Given the description of an element on the screen output the (x, y) to click on. 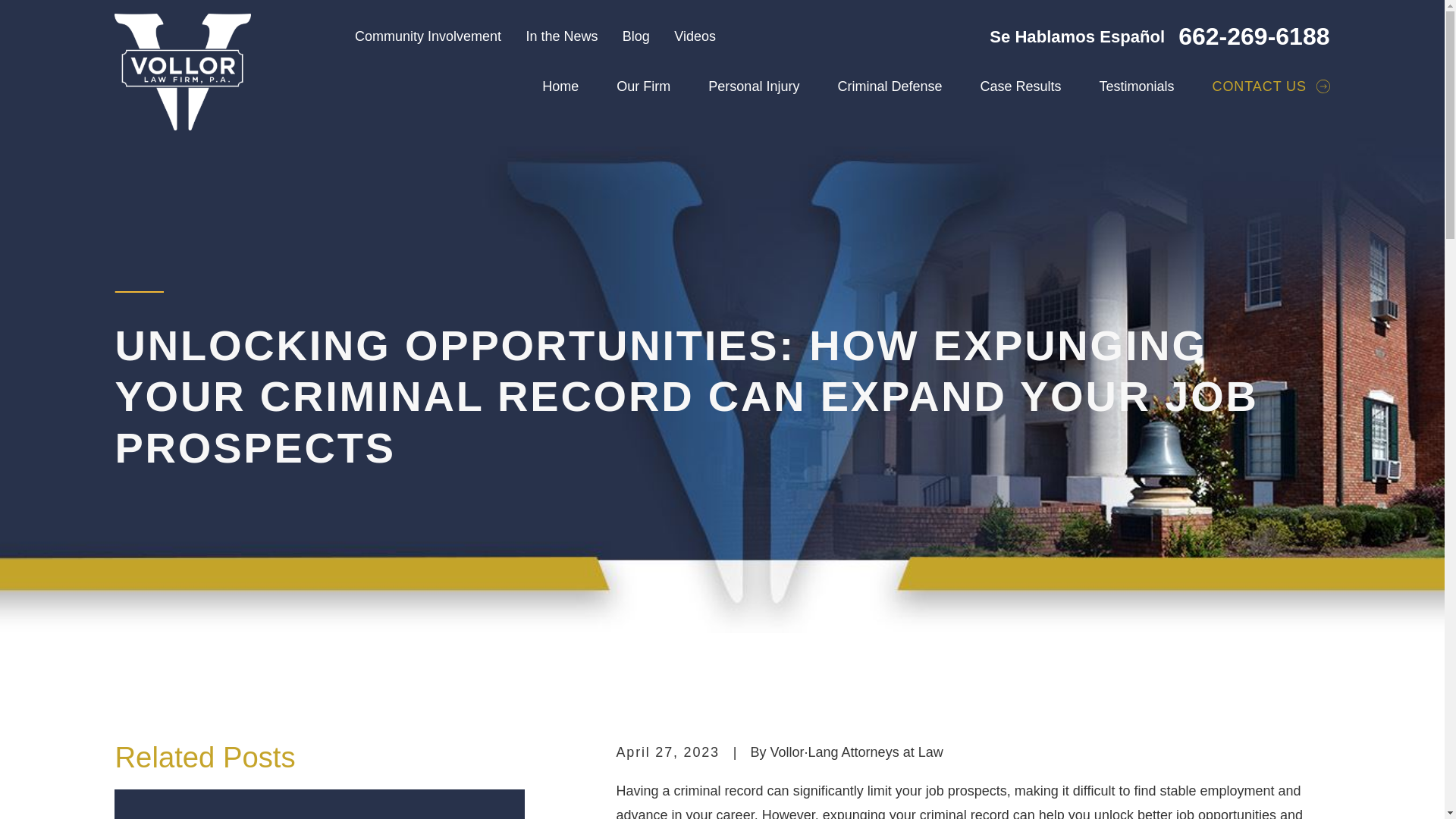
Community Involvement (427, 36)
Videos (695, 36)
Home (182, 65)
Home (559, 86)
In the News (560, 36)
Blog (636, 36)
Our Firm (642, 86)
662-269-6188 (1253, 36)
Criminal Defense (889, 86)
Case Results (1020, 86)
